Given the description of an element on the screen output the (x, y) to click on. 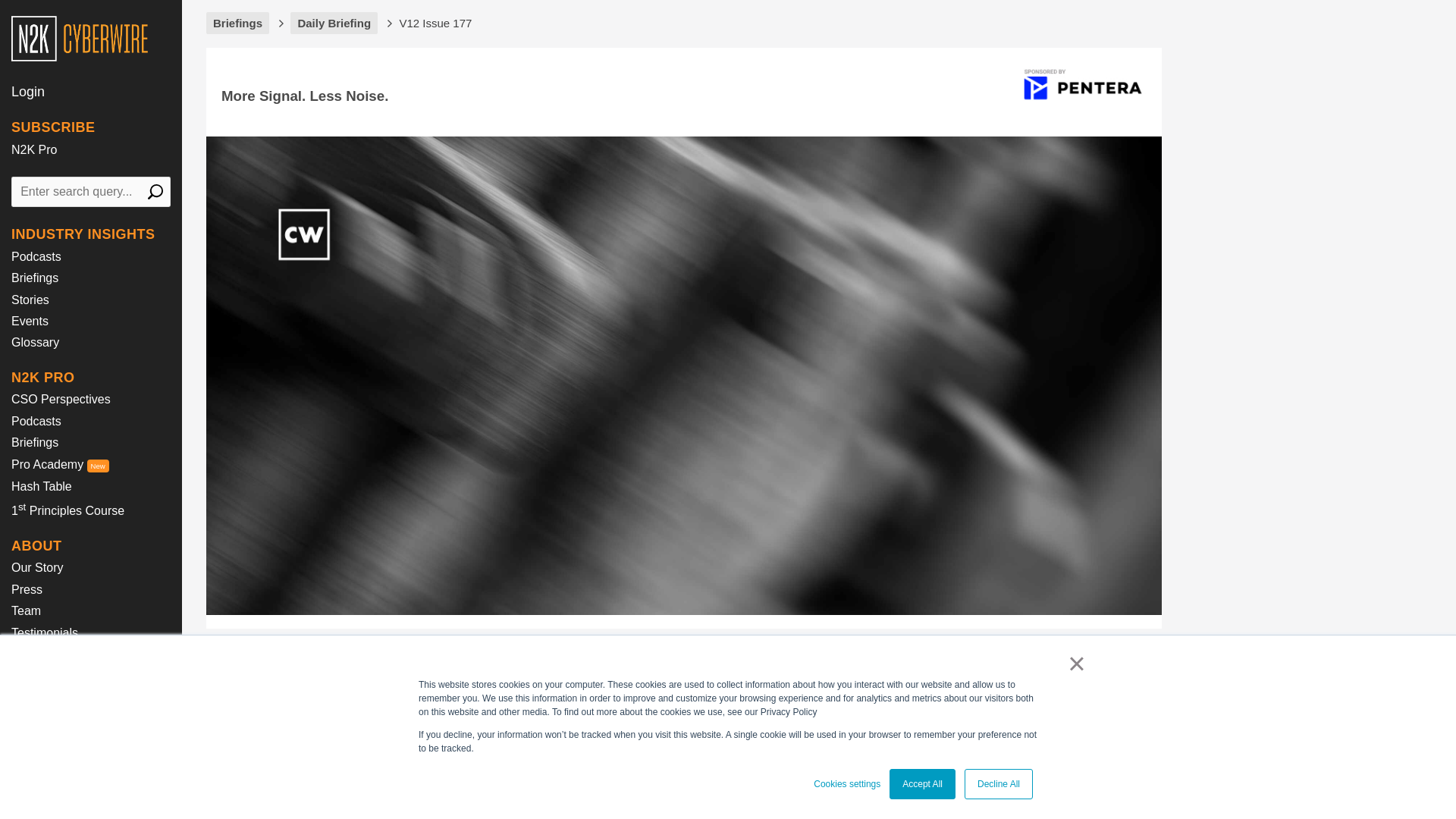
N2K Pro (33, 149)
Briefings (34, 277)
API (20, 731)
Press (26, 589)
Hash Table (41, 486)
Team (25, 610)
Events (29, 320)
Cookies settings (846, 784)
Accept All (922, 784)
Partners (33, 675)
